Given the description of an element on the screen output the (x, y) to click on. 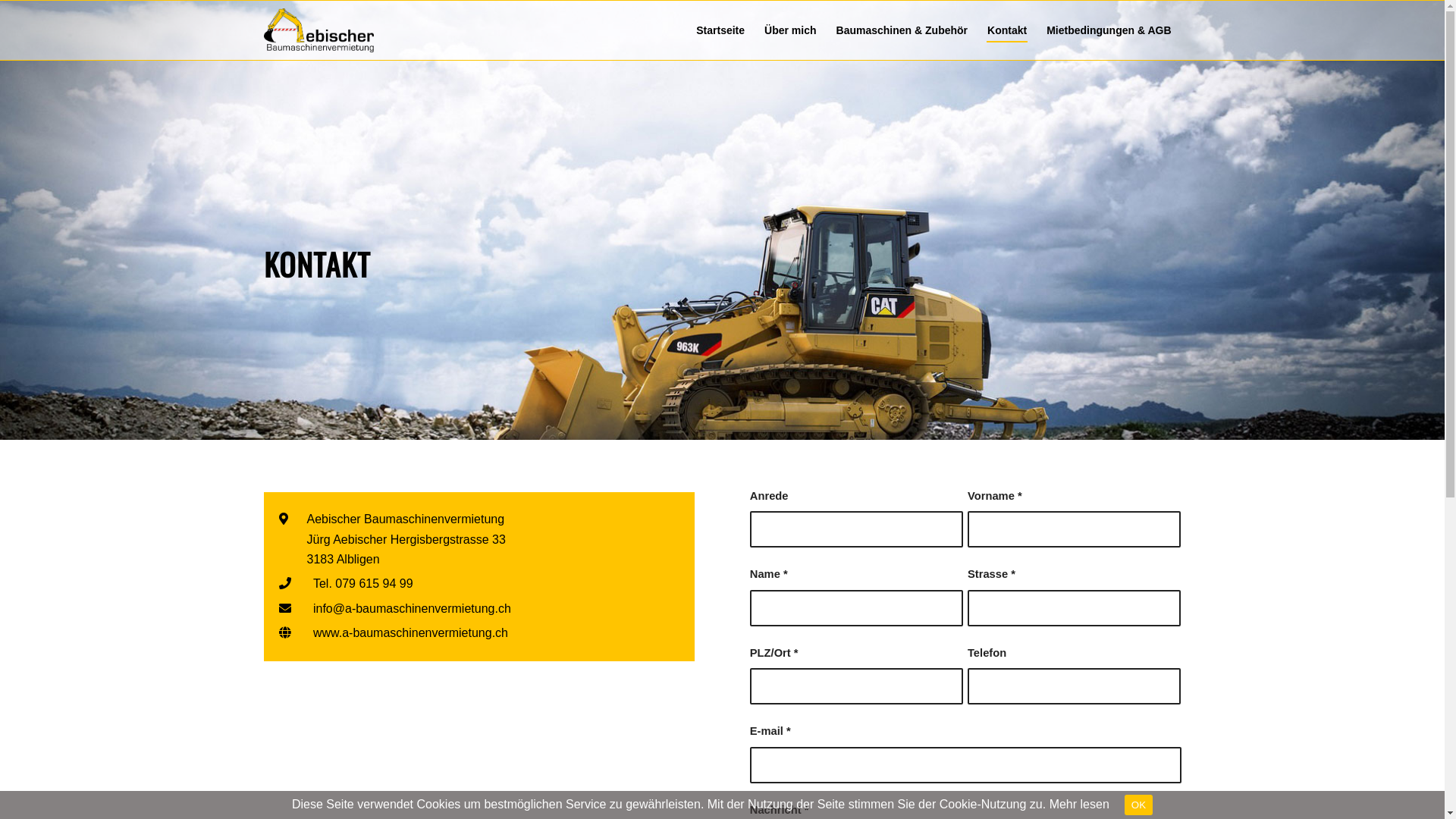
Tel. 079 615 94 99 Element type: text (363, 583)
www.a-baumaschinenvermietung.ch Element type: text (410, 633)
Mietbedingungen & AGB Element type: text (1108, 30)
Kontakt Element type: text (1006, 30)
info@a-baumaschinenvermietung.ch Element type: text (412, 608)
Mehr lesen Element type: text (1079, 803)
OK Element type: text (1138, 804)
Startseite Element type: text (720, 30)
